Given the description of an element on the screen output the (x, y) to click on. 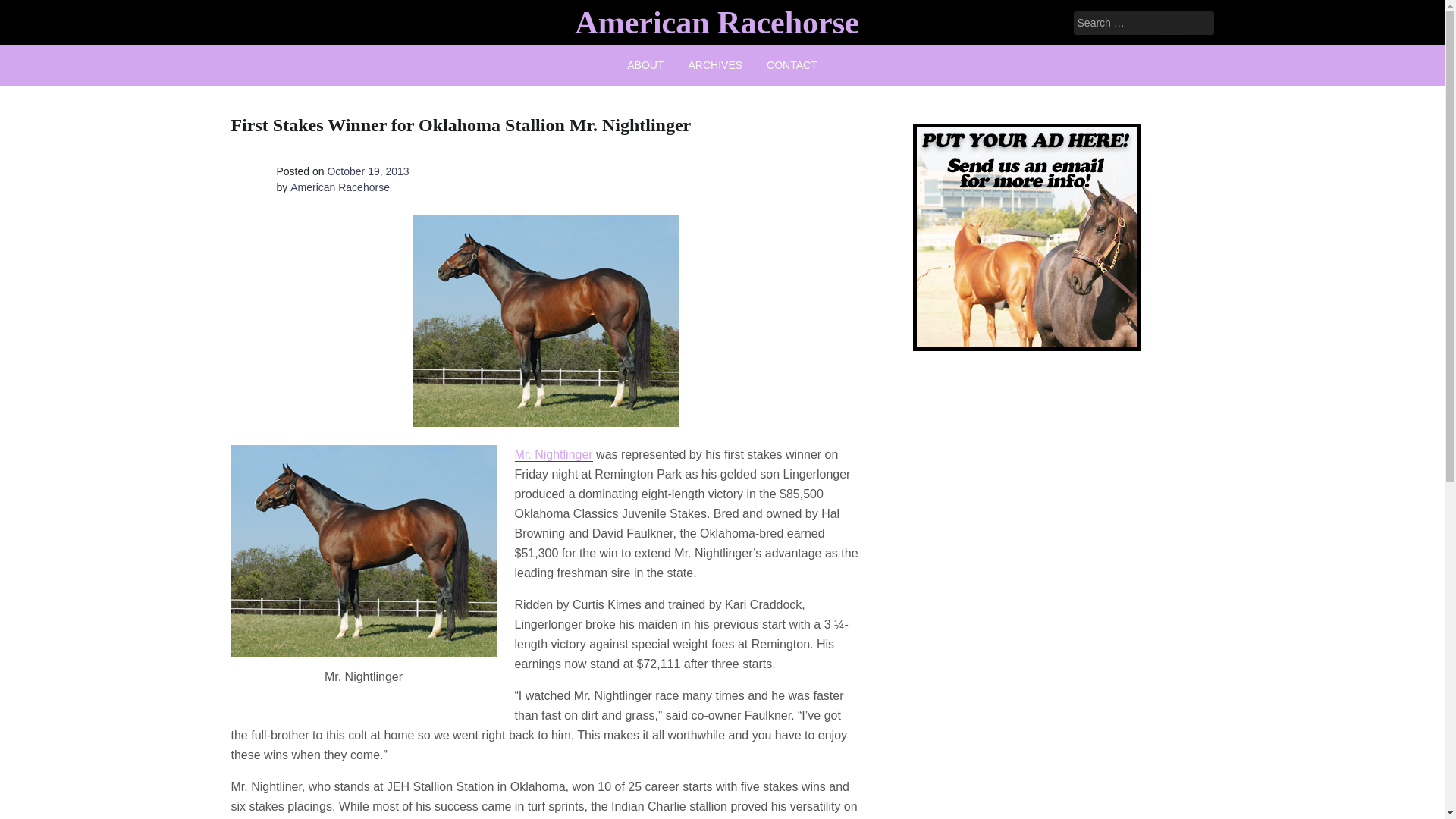
ARCHIVES (716, 65)
American Racehorse (339, 186)
American Racehorse (717, 22)
Mr. Nightlinger (552, 454)
October 19, 2013 (367, 171)
CONTACT (791, 65)
ABOUT (644, 65)
mrnightliner350 (363, 551)
Search (32, 12)
